Given the description of an element on the screen output the (x, y) to click on. 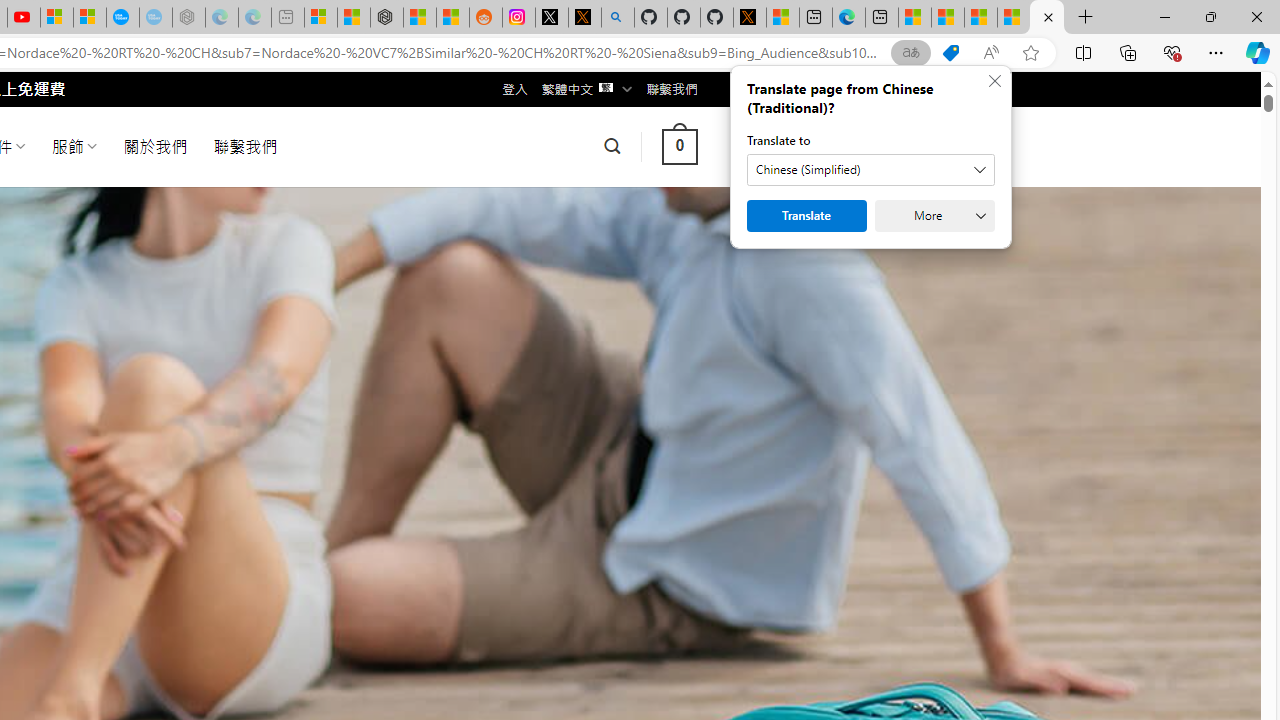
X Privacy Policy (749, 17)
Copilot (Ctrl+Shift+.) (1258, 52)
New Tab (1085, 17)
New tab (882, 17)
github - Search (617, 17)
Settings and more (Alt+F) (1215, 52)
Close (1256, 16)
  0   (679, 146)
Read aloud this page (Ctrl+Shift+U) (991, 53)
Opinion: Op-Ed and Commentary - USA TODAY (123, 17)
Microsoft Start (1014, 17)
